Given the description of an element on the screen output the (x, y) to click on. 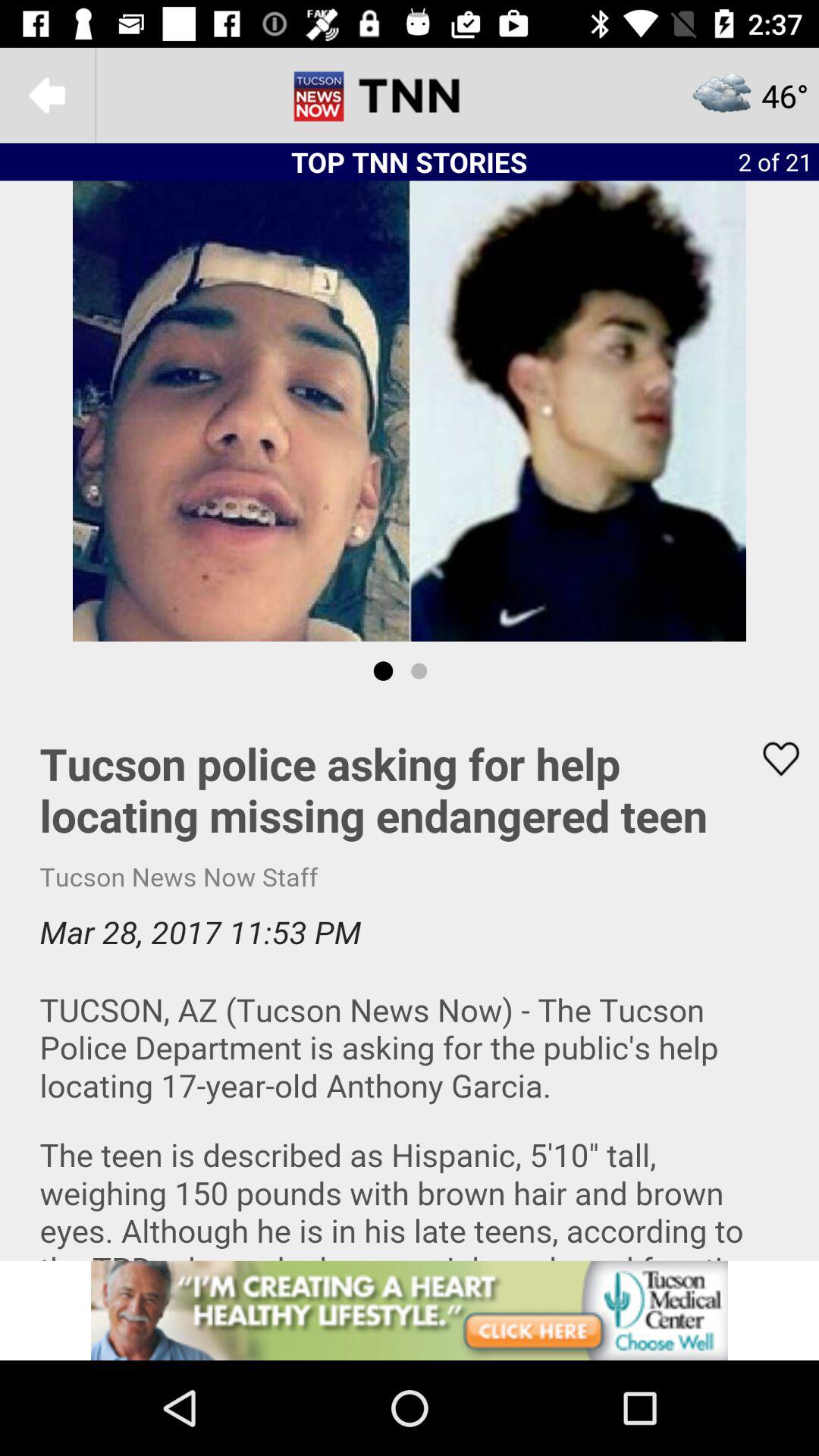
toggle favorite button (771, 758)
